Given the description of an element on the screen output the (x, y) to click on. 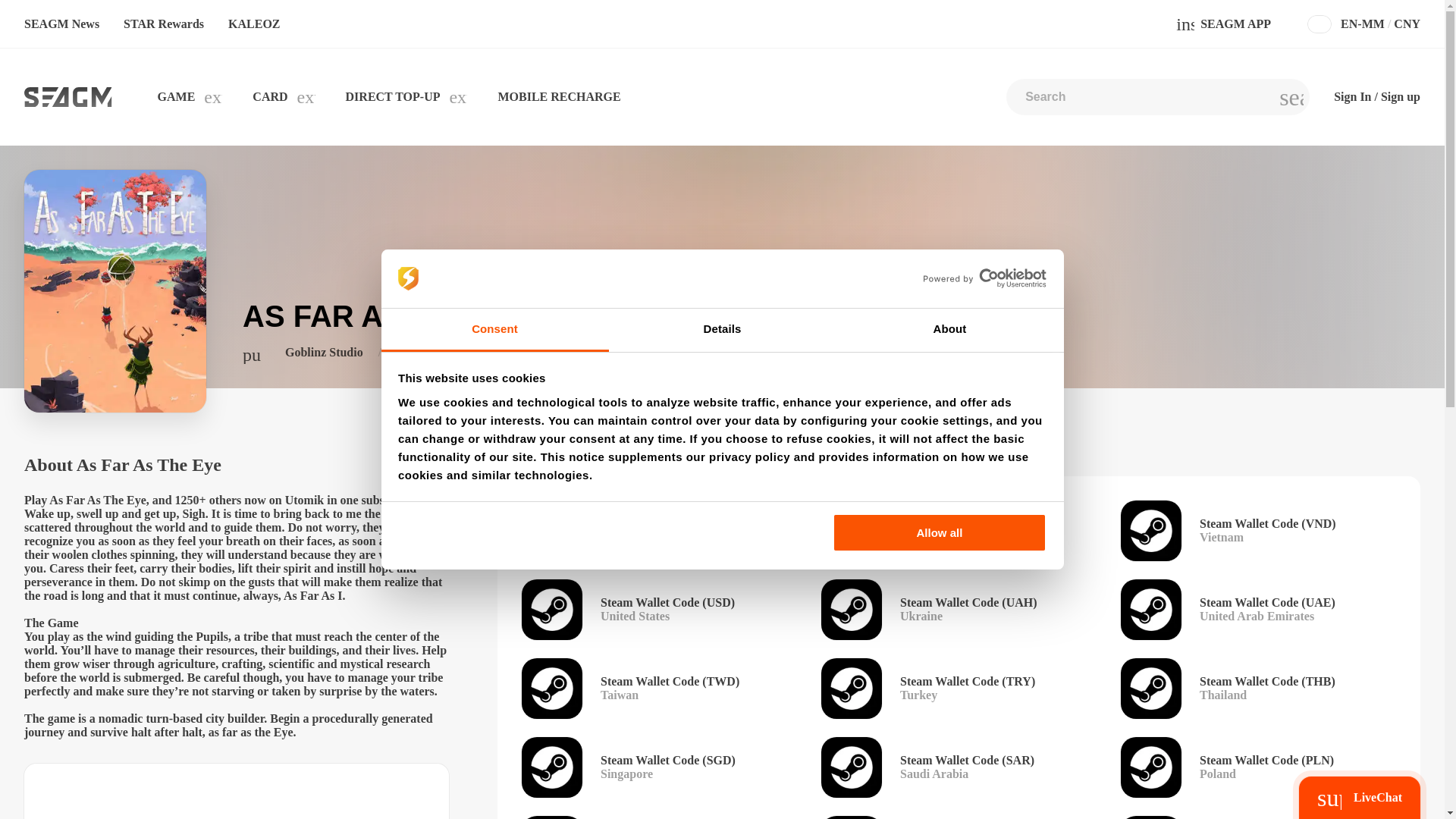
Details (721, 330)
About (948, 330)
SEAGM APP (1226, 24)
SEA Gamer Mall (68, 96)
As Far As The Eye - Offical website (251, 354)
Consent (494, 330)
